Given the description of an element on the screen output the (x, y) to click on. 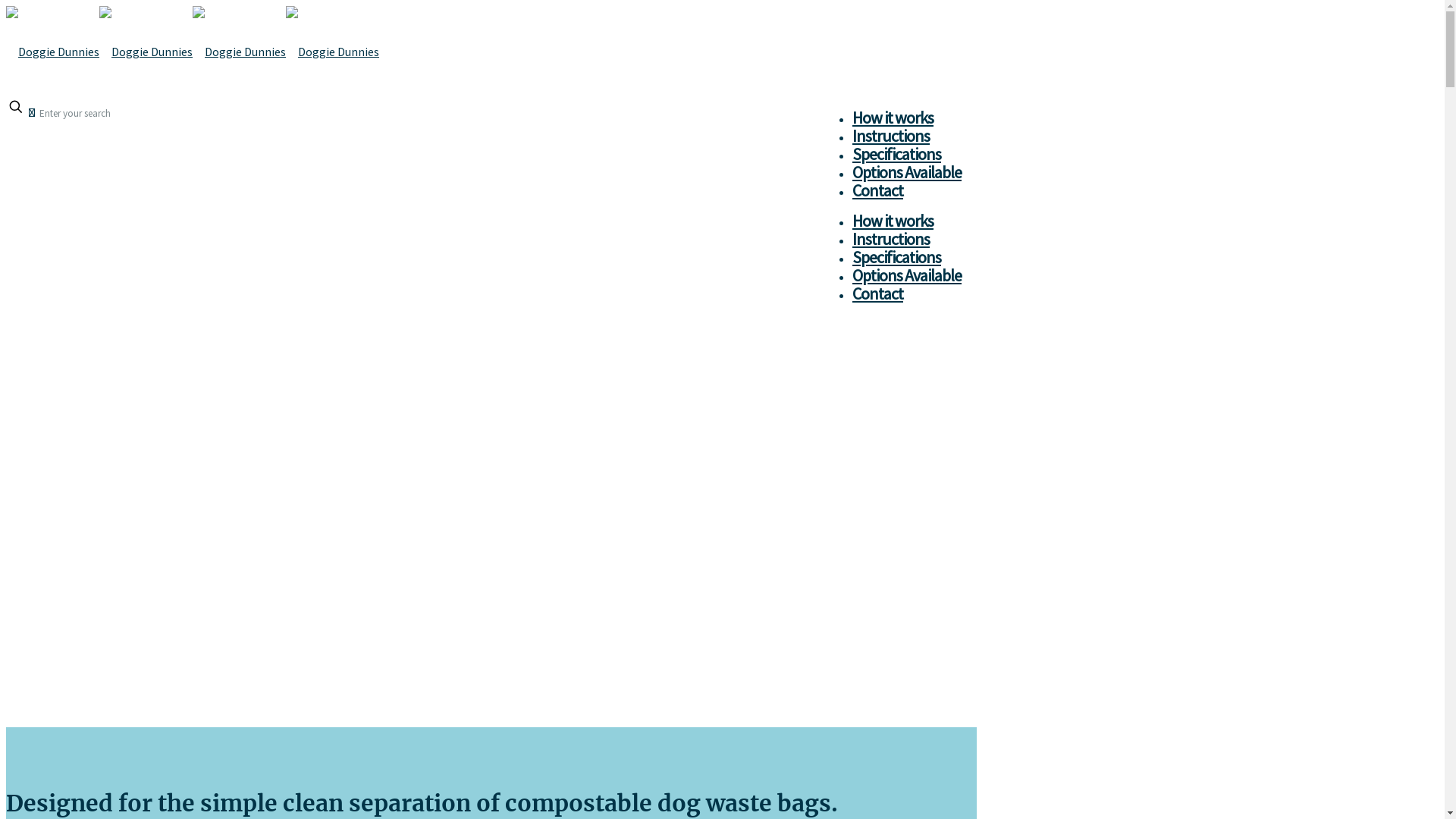
Contact Element type: text (877, 293)
Options Available Element type: text (906, 171)
How it works Element type: text (892, 220)
Instructions Element type: text (890, 135)
Specifications Element type: text (896, 153)
How it works Element type: text (892, 117)
Instructions Element type: text (890, 238)
Specifications Element type: text (896, 256)
Doggie Dunnies Element type: hover (192, 51)
Options Available Element type: text (906, 275)
Contact Element type: text (877, 190)
